Given the description of an element on the screen output the (x, y) to click on. 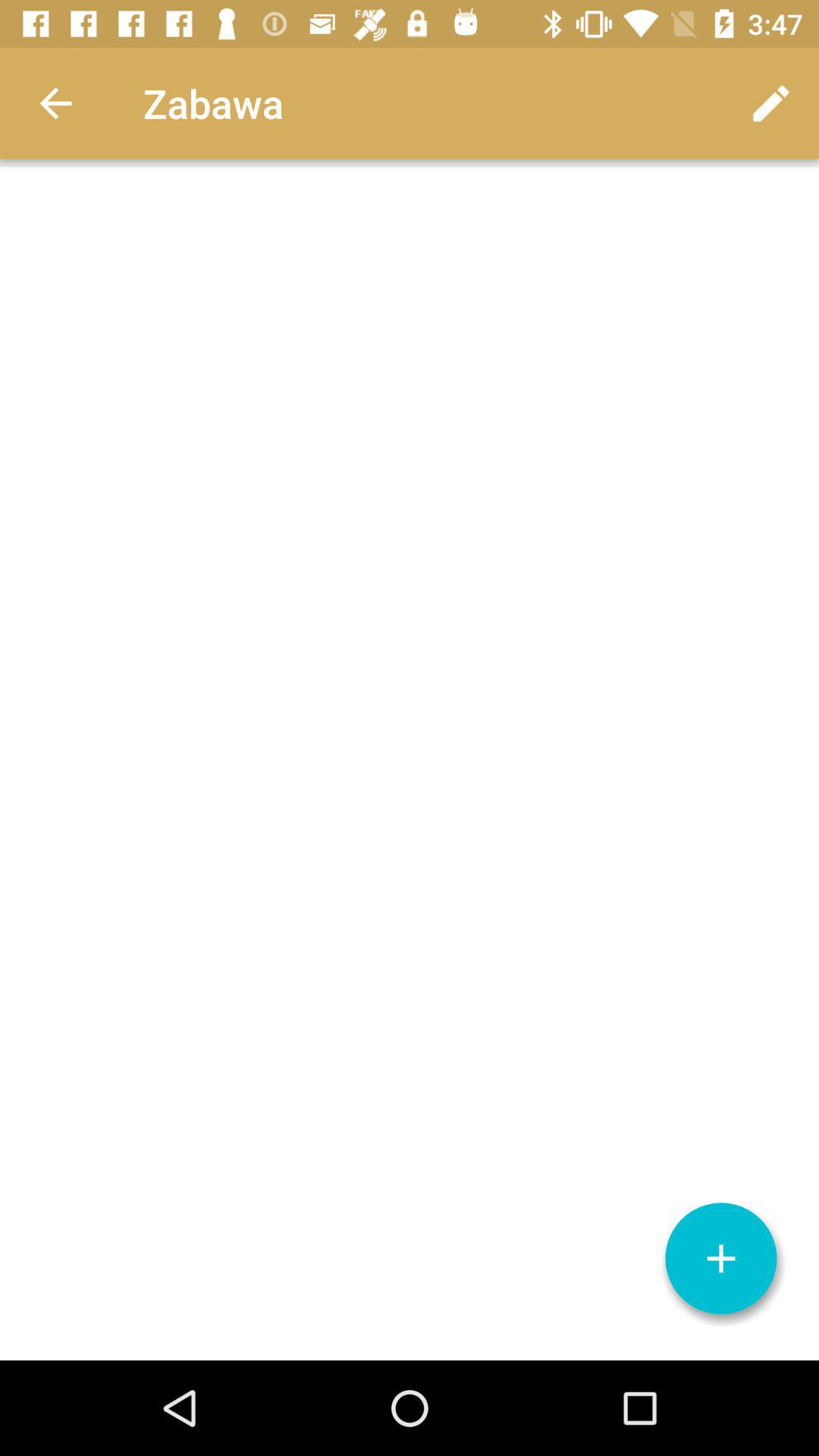
add details (721, 1258)
